Given the description of an element on the screen output the (x, y) to click on. 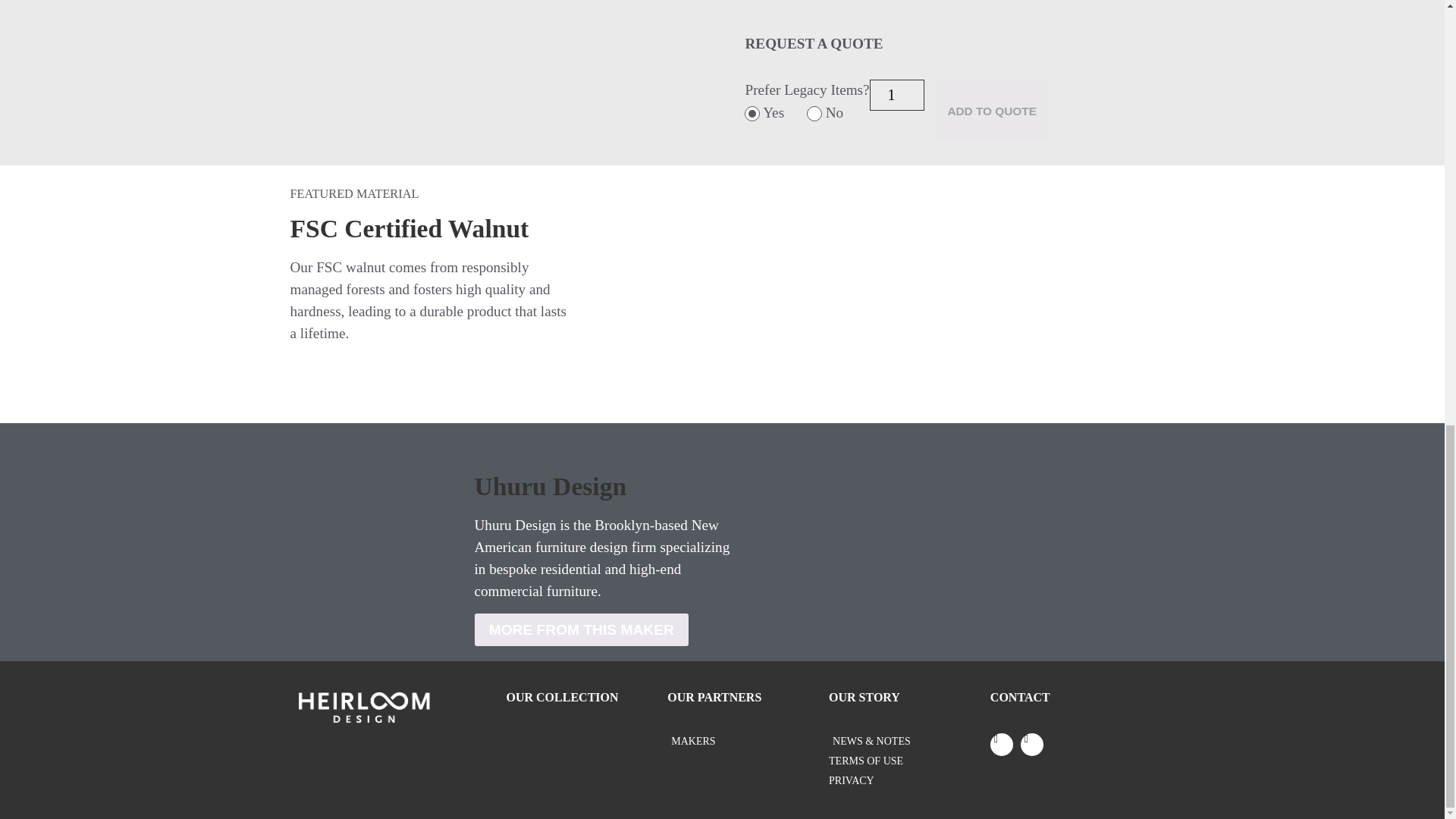
OUR STORY (863, 697)
MAKERS (747, 741)
PRIVACY (909, 780)
1 (896, 94)
OUR COLLECTION (562, 697)
ADD TO QUOTE (991, 110)
CONTACT (1019, 697)
TERMS OF USE (909, 760)
No (814, 113)
Yes (752, 113)
